Given the description of an element on the screen output the (x, y) to click on. 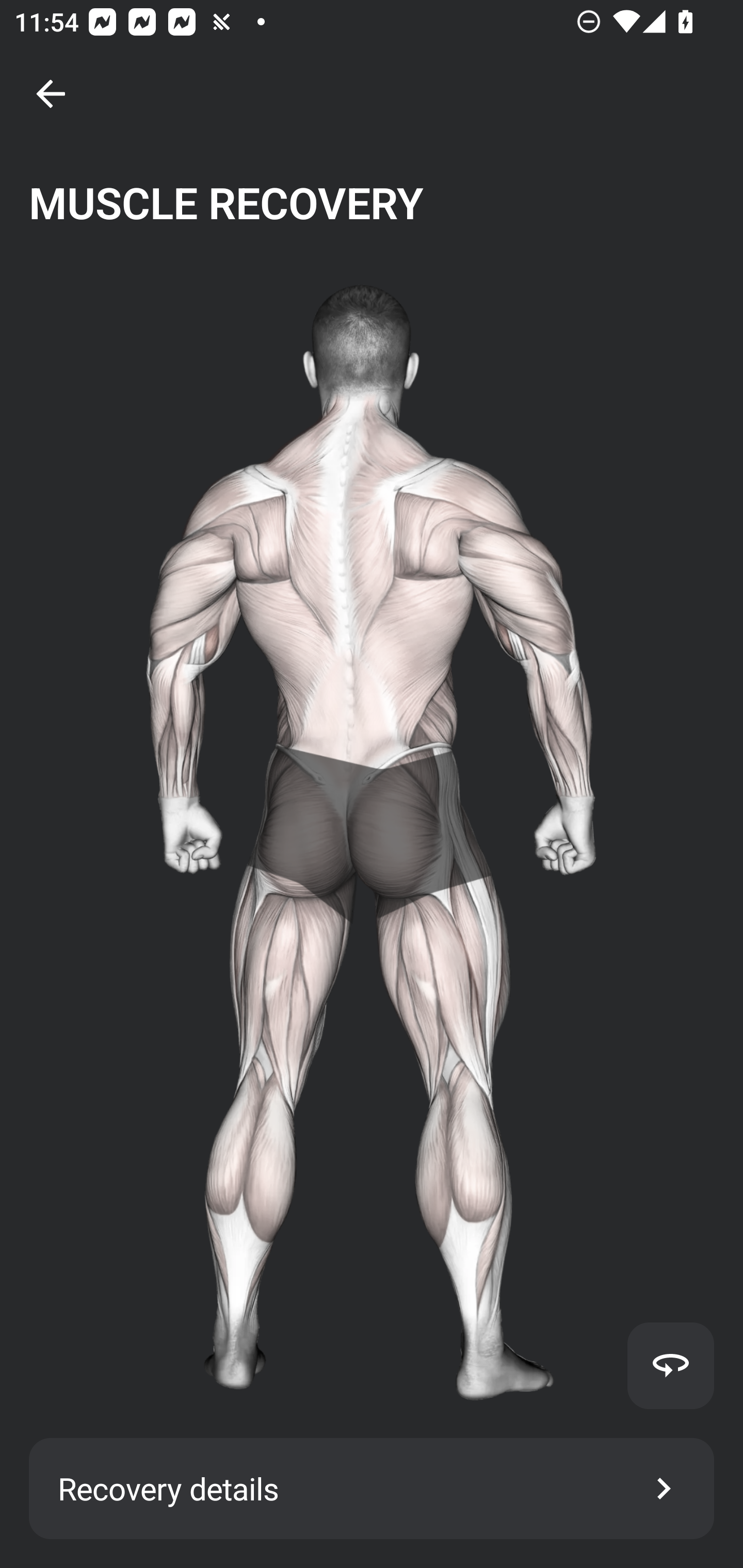
Back Icon (50, 93)
Turn icon (670, 1365)
Recovery details Next icon (371, 1488)
